Given the description of an element on the screen output the (x, y) to click on. 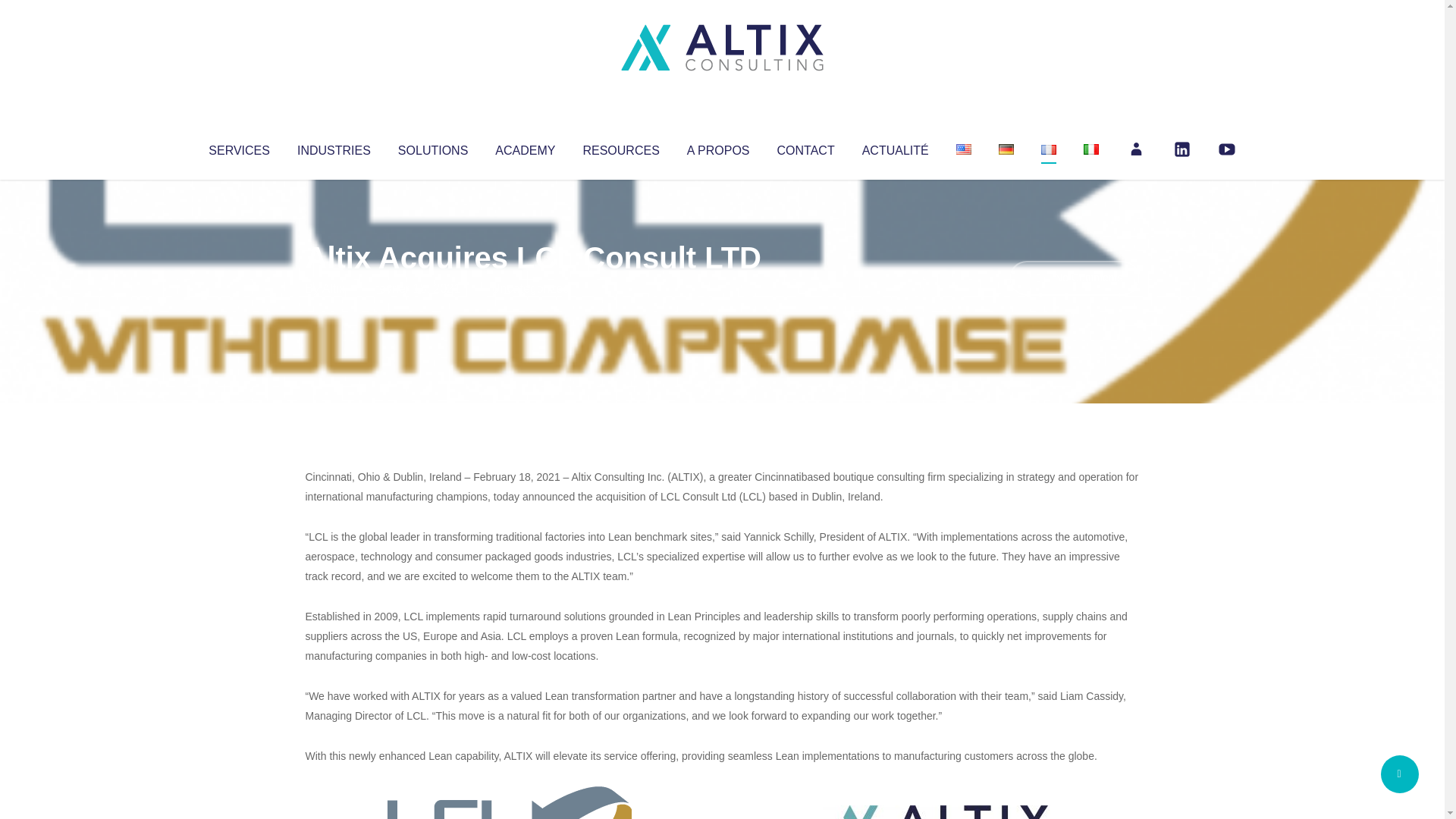
A PROPOS (718, 146)
SOLUTIONS (432, 146)
Articles par Altix (333, 287)
Uncategorized (530, 287)
SERVICES (238, 146)
ACADEMY (524, 146)
INDUSTRIES (334, 146)
No Comments (1073, 278)
Altix (333, 287)
RESOURCES (620, 146)
